Given the description of an element on the screen output the (x, y) to click on. 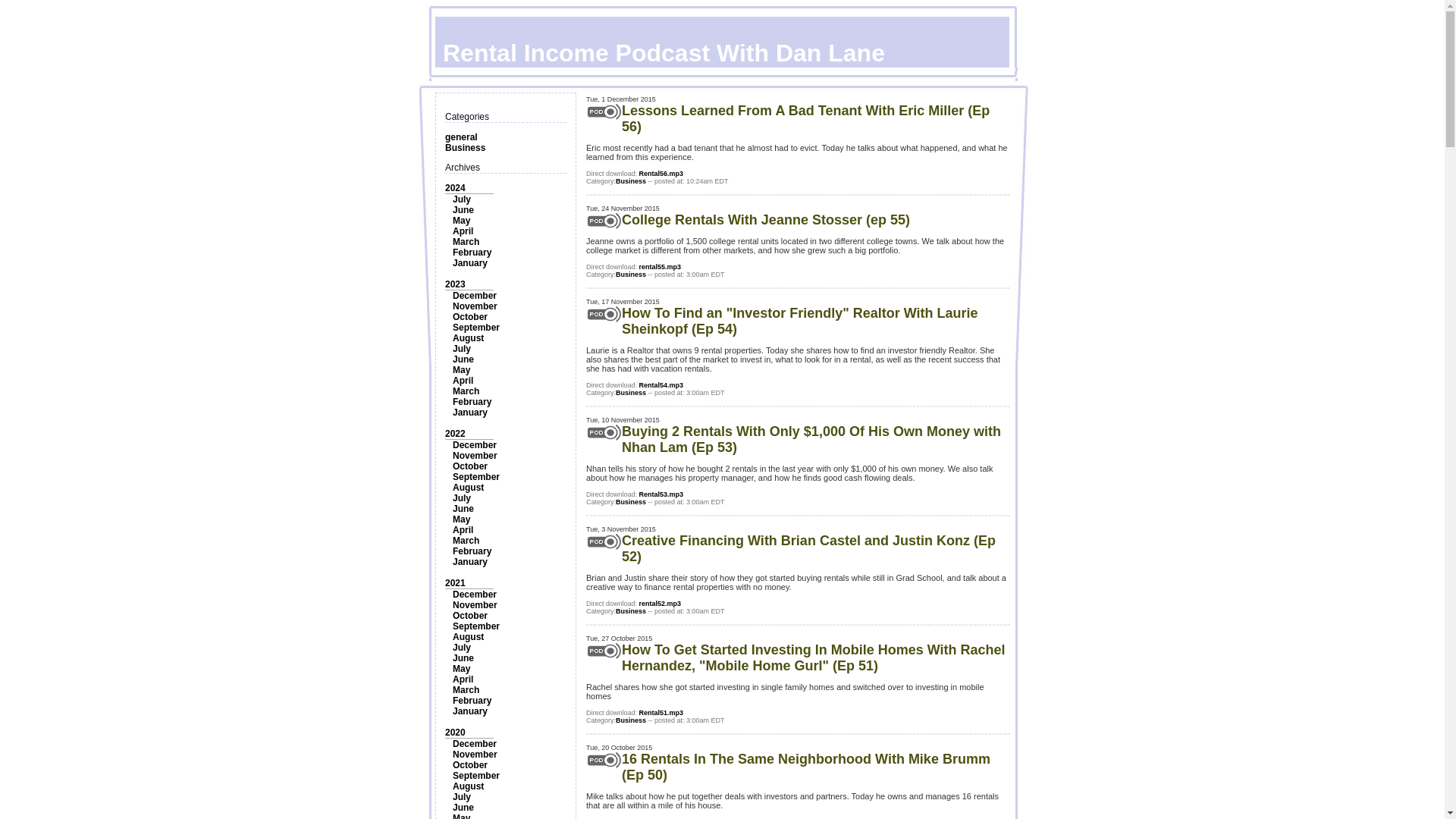
July (461, 199)
October (469, 317)
December (474, 444)
April (462, 529)
March (465, 241)
August (467, 487)
March (465, 540)
March (465, 390)
general (461, 136)
November (474, 306)
April (462, 231)
August (467, 337)
June (463, 209)
January (469, 561)
February (472, 252)
